Given the description of an element on the screen output the (x, y) to click on. 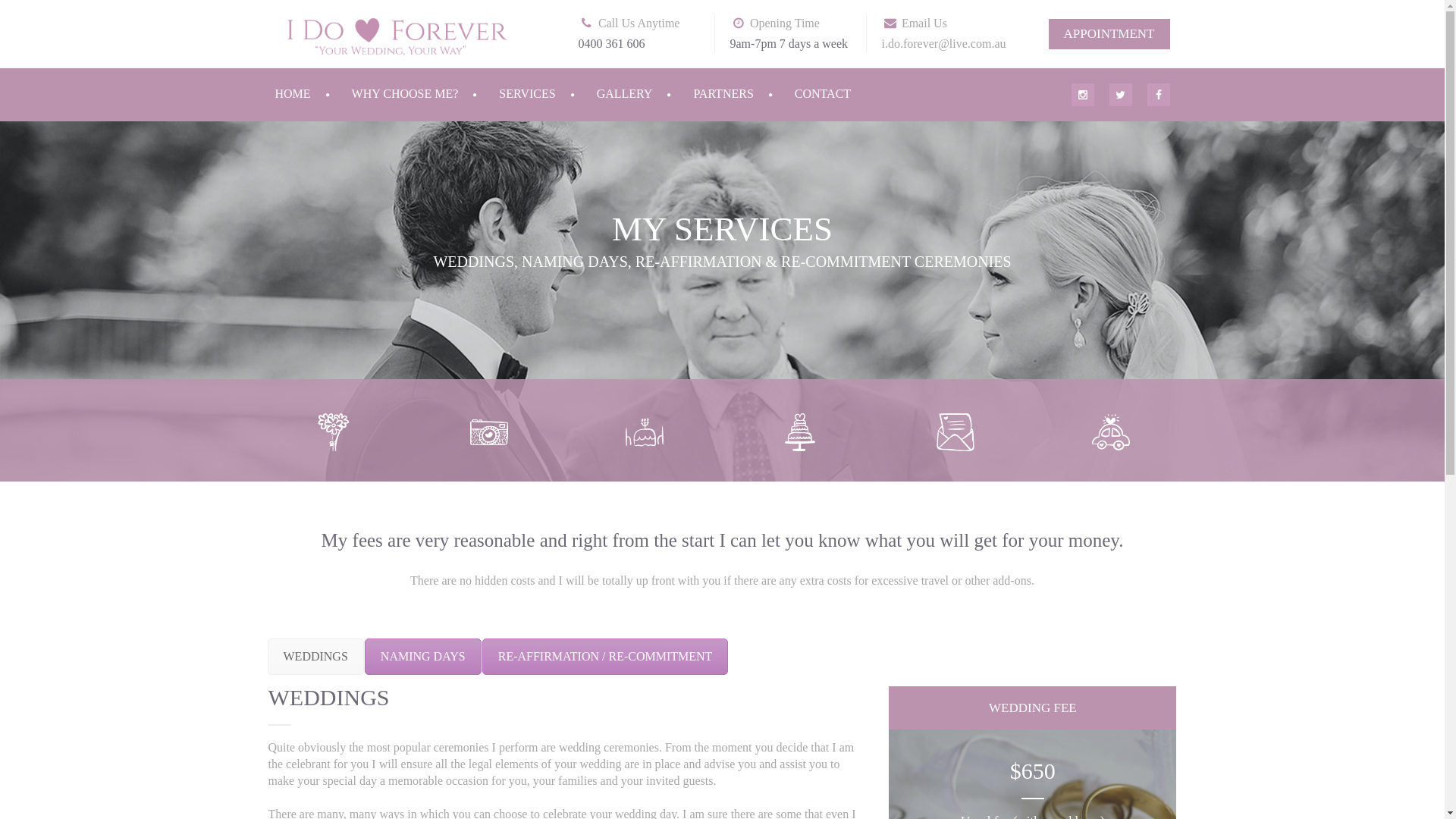
i.do.forever@live.com.au Element type: text (943, 43)
HOME Element type: text (308, 93)
SERVICES Element type: text (543, 93)
WHY CHOOSE ME? Element type: text (421, 93)
WEDDINGS Element type: text (314, 656)
CONTACT Element type: text (822, 93)
RE-AFFIRMATION / RE-COMMITMENT Element type: text (605, 656)
PARTNERS Element type: text (739, 93)
NAMING DAYS Element type: text (422, 656)
GALLERY Element type: text (641, 93)
APPOINTMENT Element type: text (1109, 33)
